Given the description of an element on the screen output the (x, y) to click on. 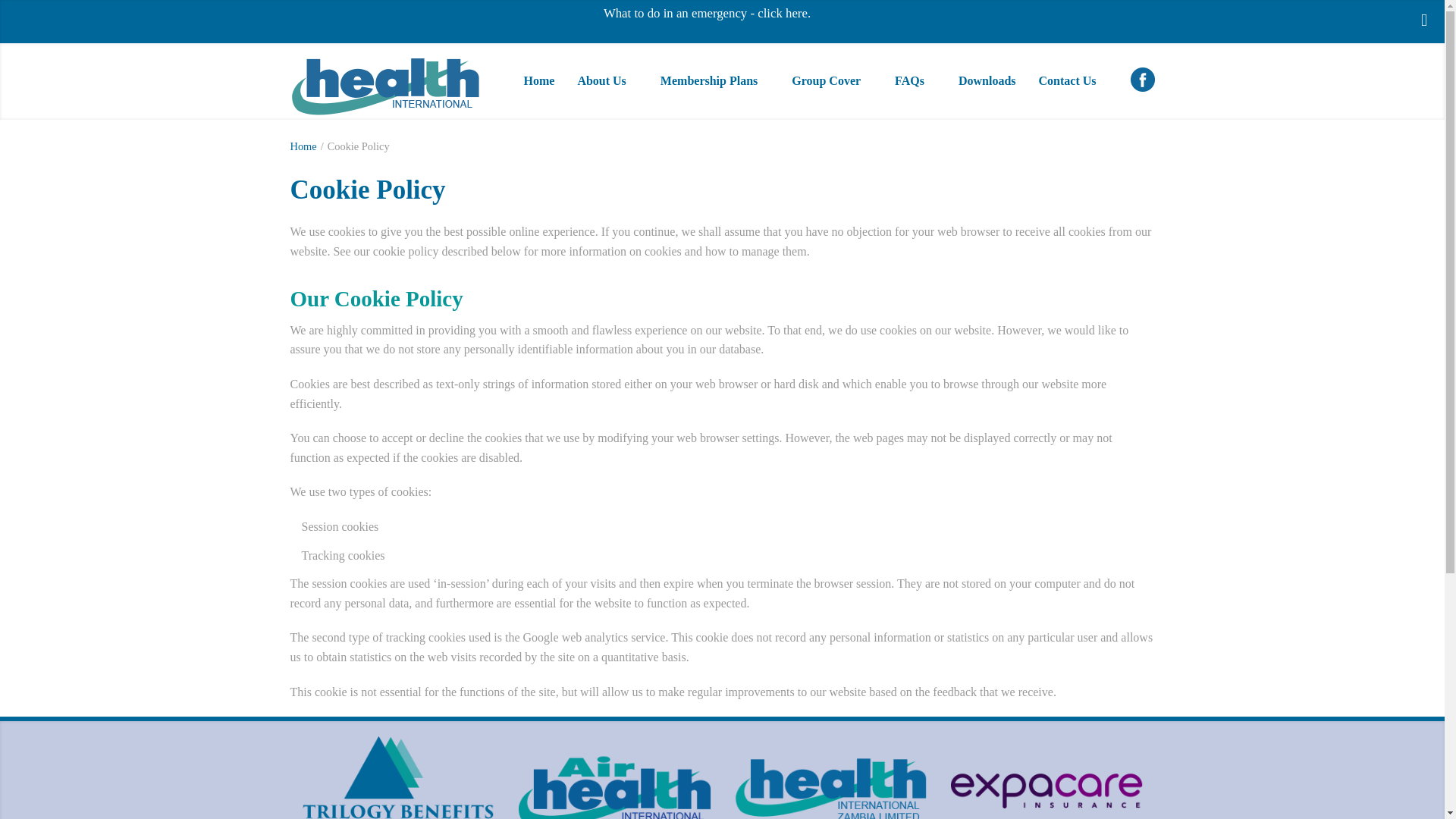
Membership Plans (714, 81)
About Us (606, 81)
click here. (783, 12)
Home (539, 81)
